Given the description of an element on the screen output the (x, y) to click on. 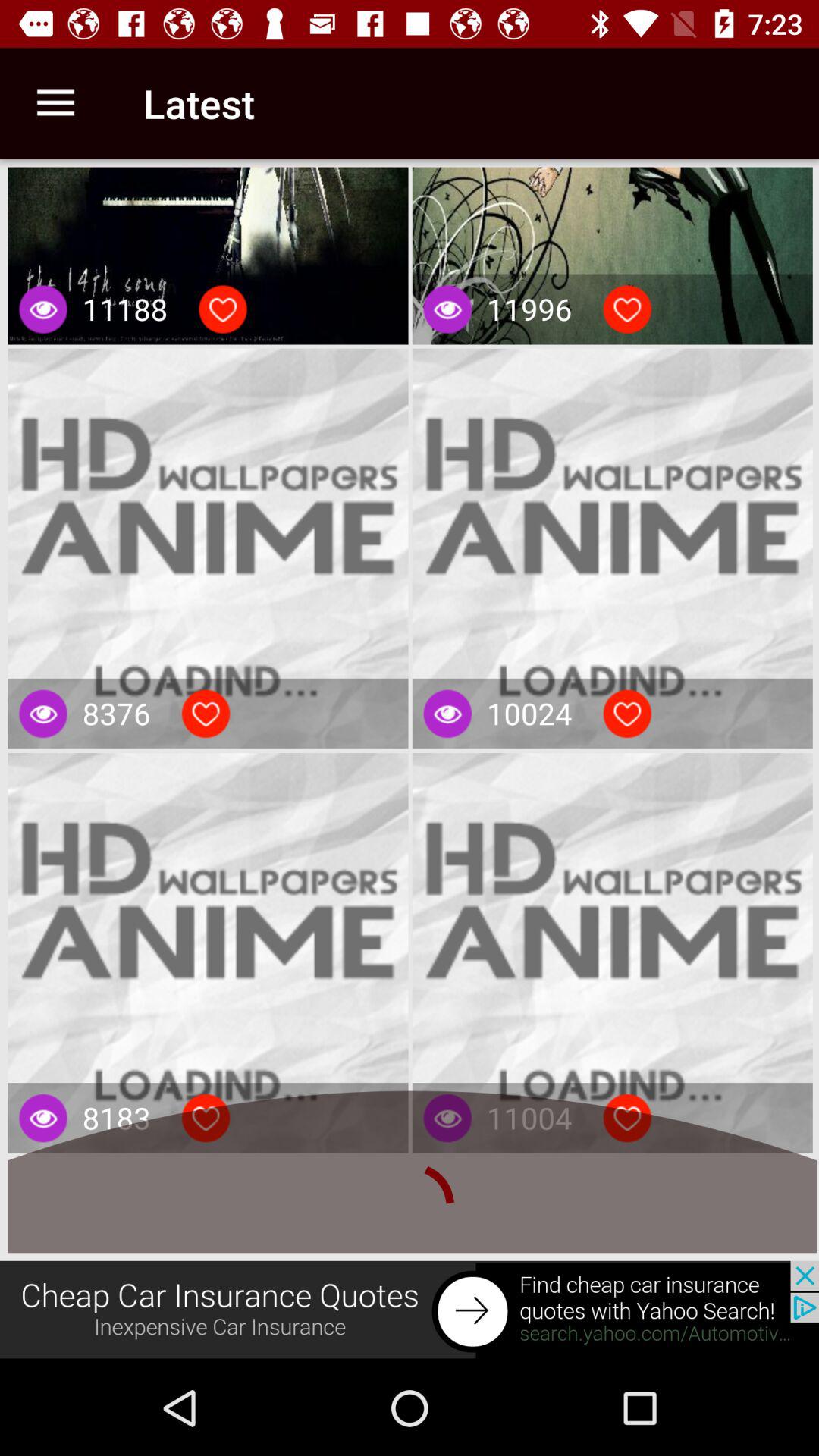
light baten (627, 713)
